Given the description of an element on the screen output the (x, y) to click on. 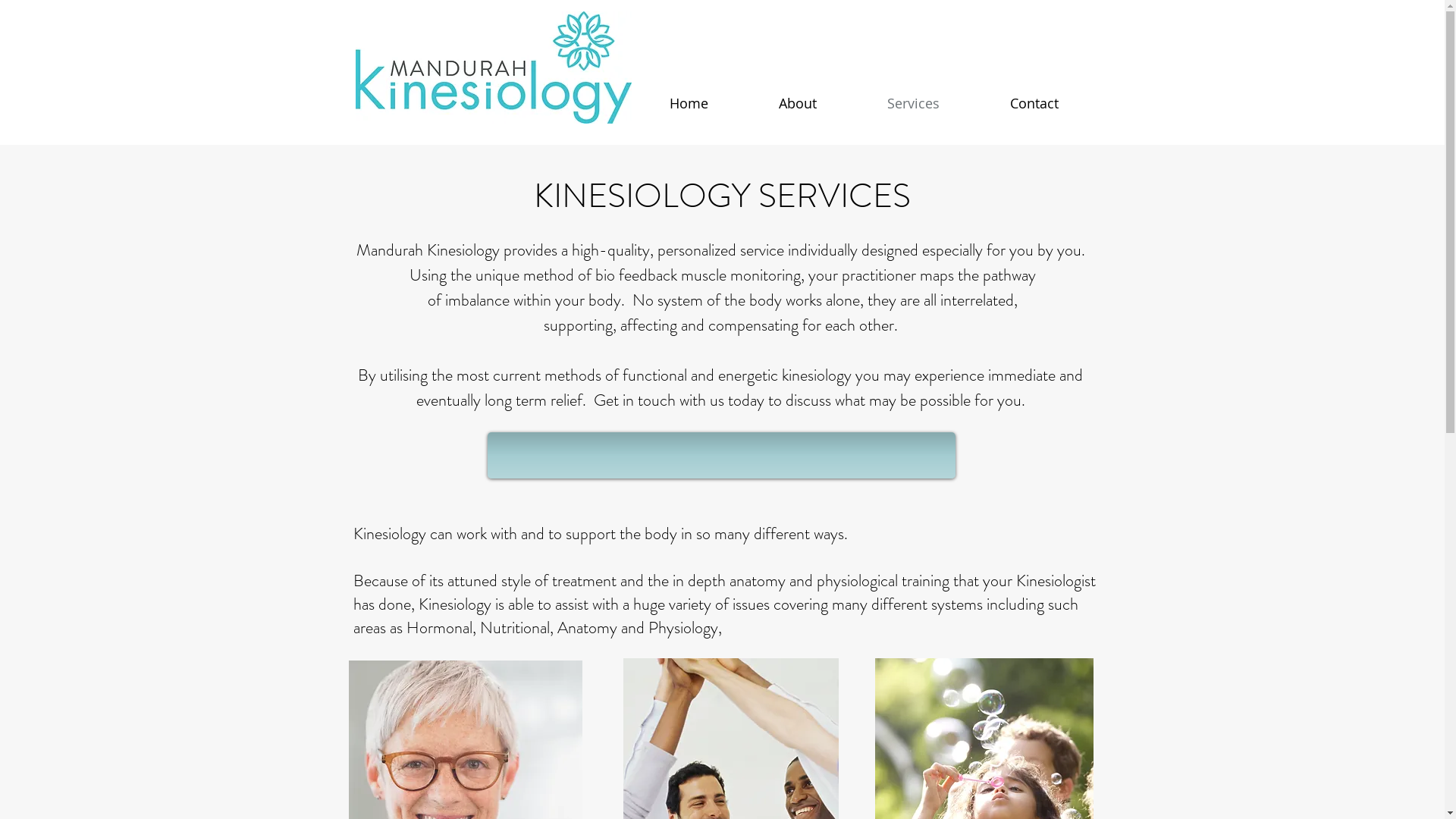
Home Element type: text (688, 102)
About Element type: text (797, 102)
Contact Element type: text (1034, 102)
Services Element type: text (913, 102)
